Given the description of an element on the screen output the (x, y) to click on. 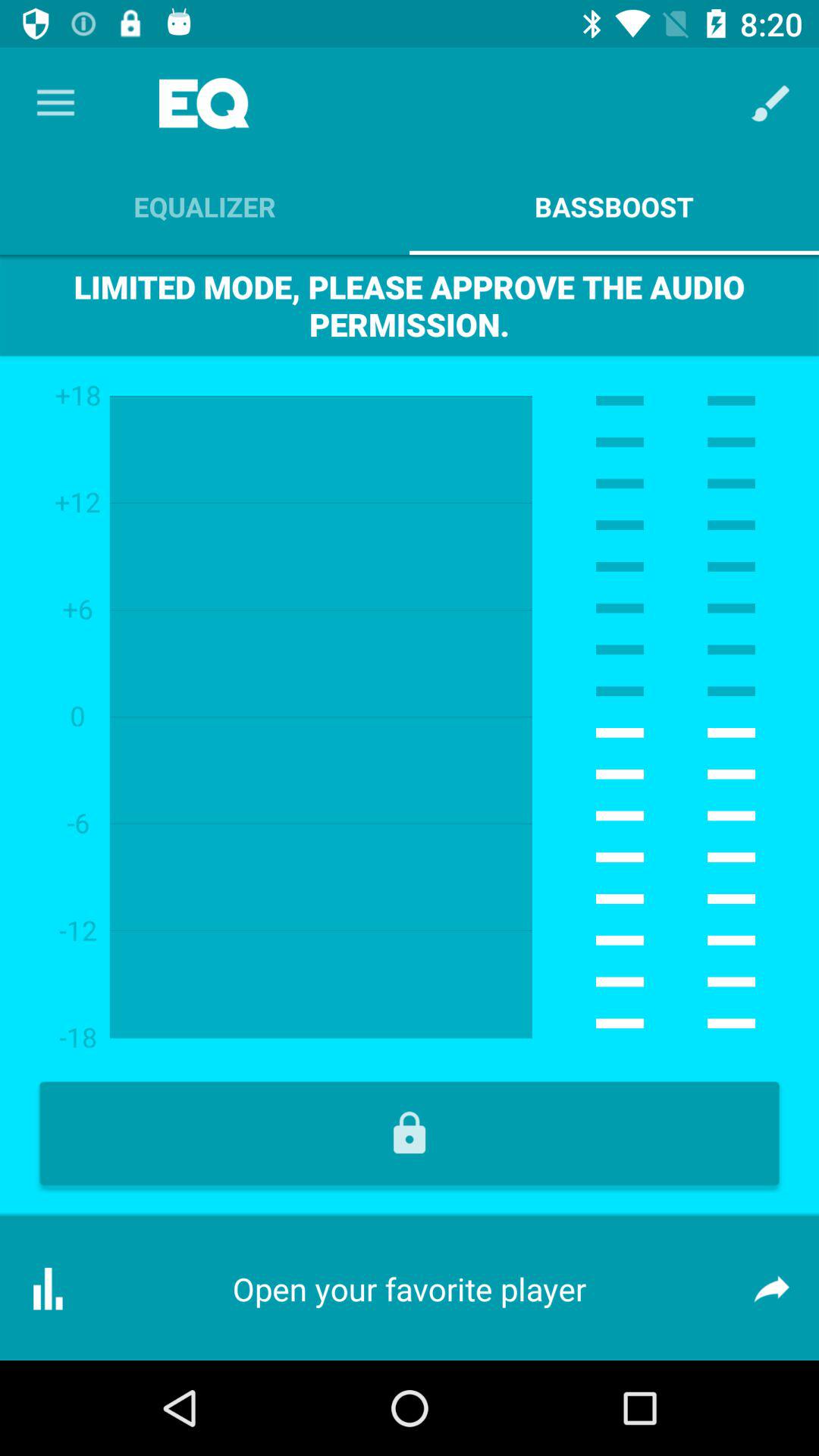
open app next to the equalizer item (771, 103)
